Given the description of an element on the screen output the (x, y) to click on. 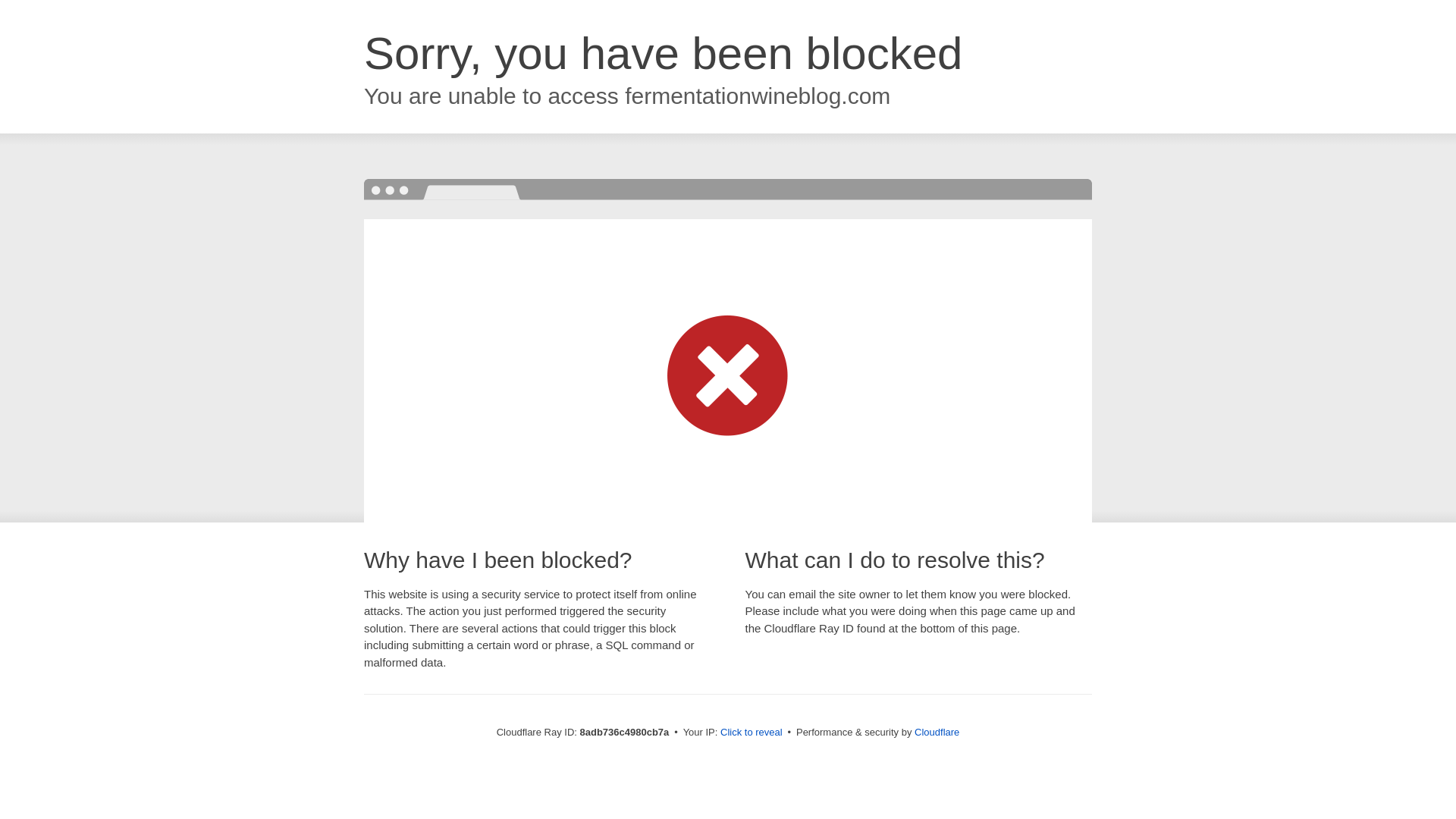
Cloudflare (936, 731)
Click to reveal (751, 732)
